Given the description of an element on the screen output the (x, y) to click on. 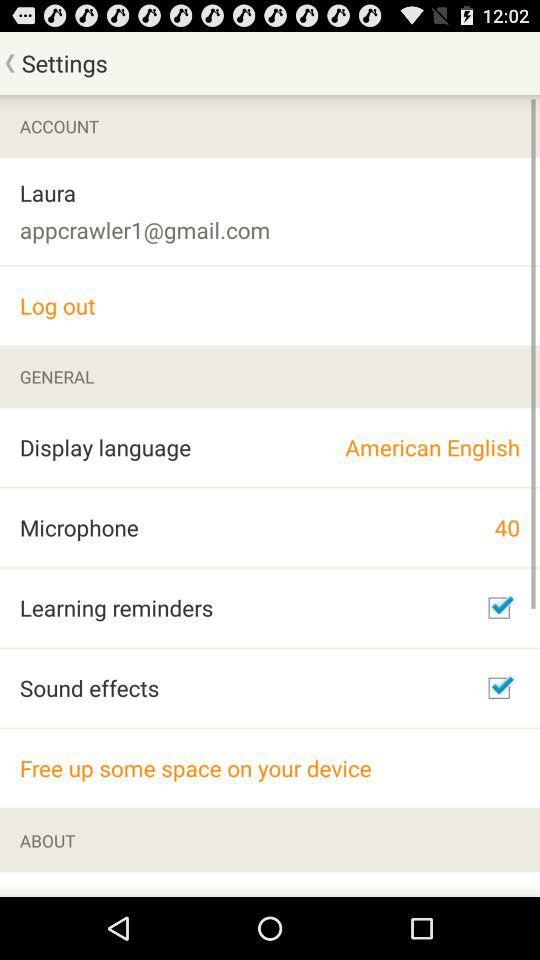
tap the icon below about (109, 884)
